Given the description of an element on the screen output the (x, y) to click on. 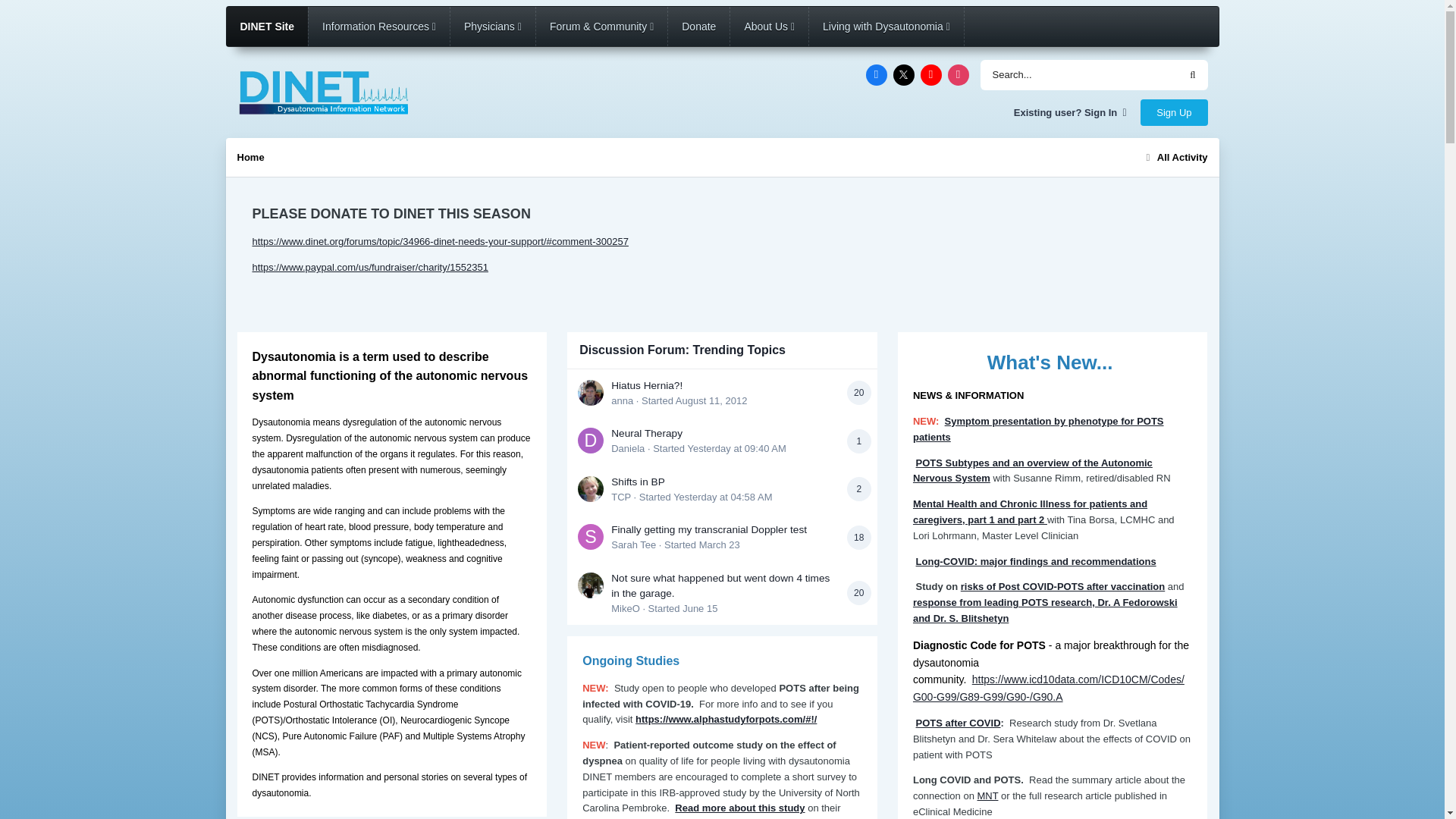
Go to Daniela's profile (591, 440)
2 replies (858, 488)
Go to anna's profile (622, 400)
DINET Site (266, 25)
Physicians (492, 25)
18 replies (858, 537)
Home (249, 156)
Donate (698, 25)
Go to anna's profile (591, 392)
About Us (769, 25)
View the topic Hiatus Hernia?! (646, 385)
20 replies (858, 392)
1 reply (858, 441)
Go to Daniela's profile (628, 448)
Go to TCP's profile (620, 496)
